Given the description of an element on the screen output the (x, y) to click on. 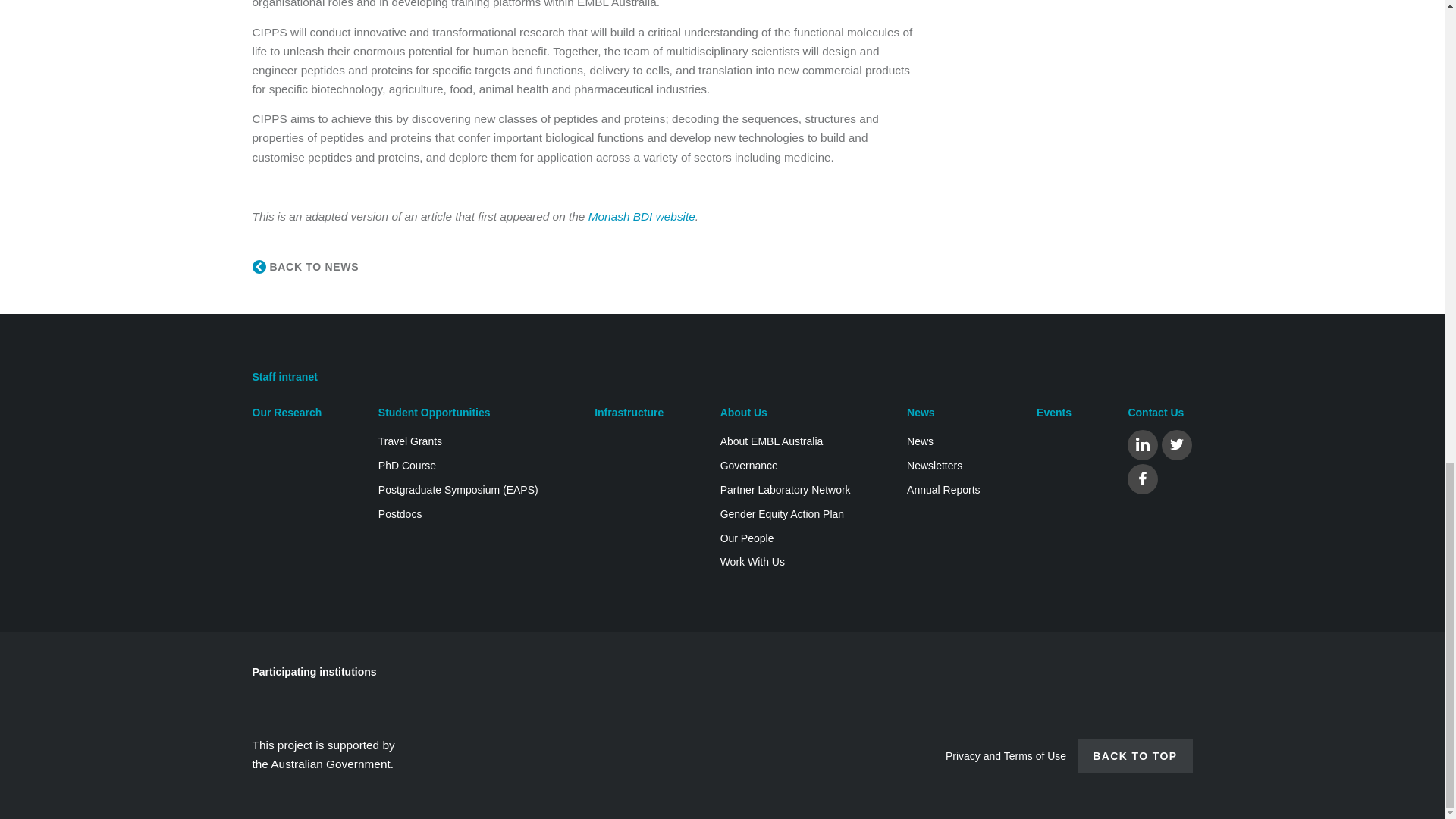
BACK TO NEWS (304, 266)
Monash BDI website (641, 215)
